Given the description of an element on the screen output the (x, y) to click on. 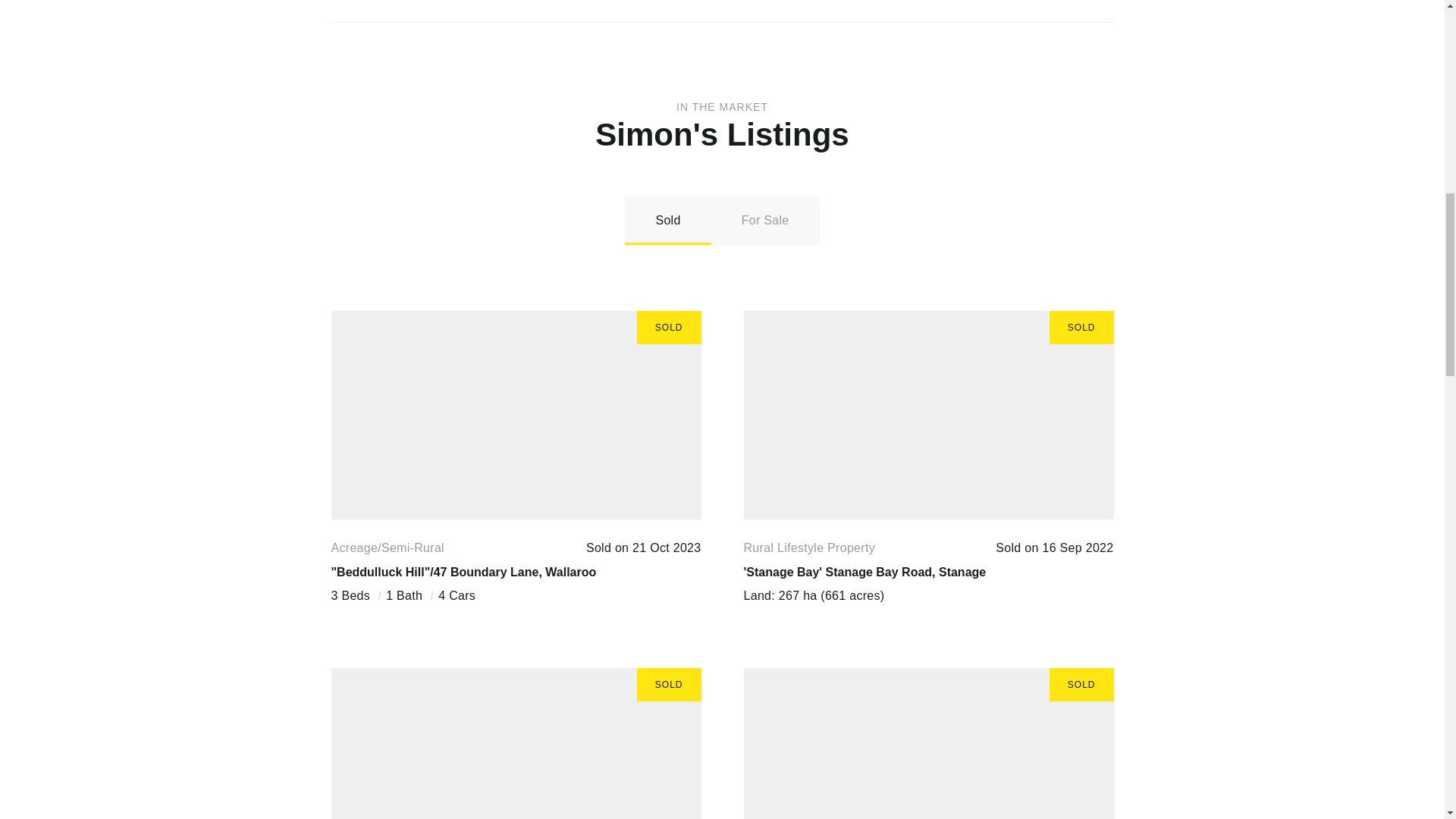
SOLD (515, 415)
SOLD (927, 415)
SOLD (927, 743)
'Stanage Bay' Stanage Bay Road, Stanage (863, 571)
SOLD (515, 743)
